Given the description of an element on the screen output the (x, y) to click on. 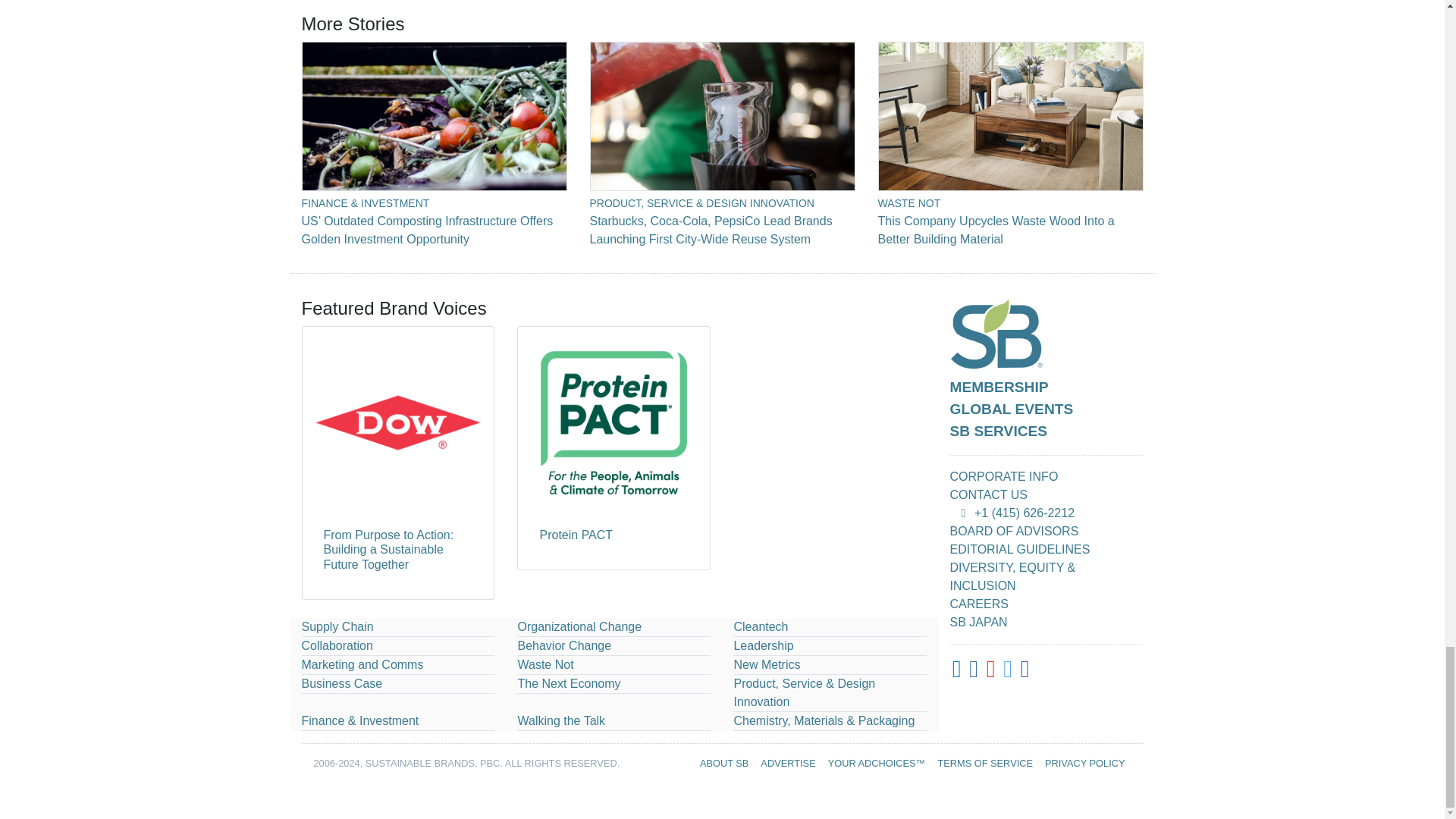
Telephone (963, 512)
